Given the description of an element on the screen output the (x, y) to click on. 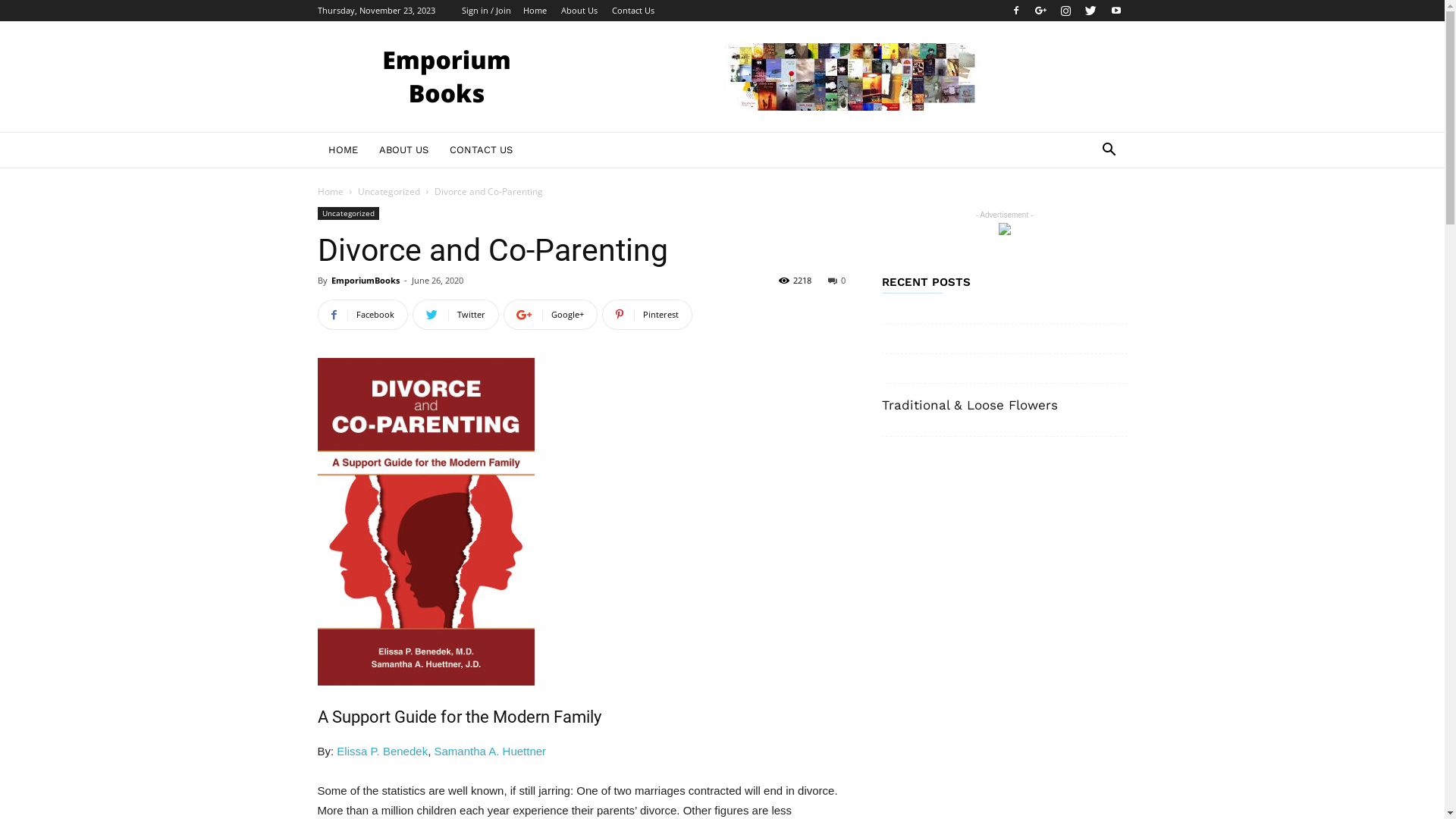
Uncategorized Element type: text (388, 191)
Samantha A. Huettner Element type: text (489, 750)
Facebook Element type: text (361, 314)
Sign in / Join Element type: text (485, 9)
Traditional & Loose Flowers Element type: text (969, 404)
Contact Us Element type: text (632, 9)
Google+ Element type: text (550, 314)
Facebook Element type: hover (1015, 10)
0 Element type: text (836, 279)
ABOUT US Element type: text (403, 149)
Uncategorized Element type: text (347, 213)
Pinterest Element type: text (647, 314)
About Us Element type: text (579, 9)
EmporiumBooks Element type: text (364, 279)
CONTACT US Element type: text (480, 149)
Google+ Element type: hover (1040, 10)
Home Element type: text (534, 9)
Search Element type: text (1085, 210)
Youtube Element type: hover (1115, 10)
Elissa P. Benedek Element type: text (381, 750)
HOME Element type: text (341, 149)
Twitter Element type: text (455, 314)
Instagram Element type: hover (1065, 10)
Screen-Shot-2020-07-05-at-1.46.10-PM Element type: hover (424, 521)
Home Element type: text (329, 191)
Twitter Element type: hover (1090, 10)
